Given the description of an element on the screen output the (x, y) to click on. 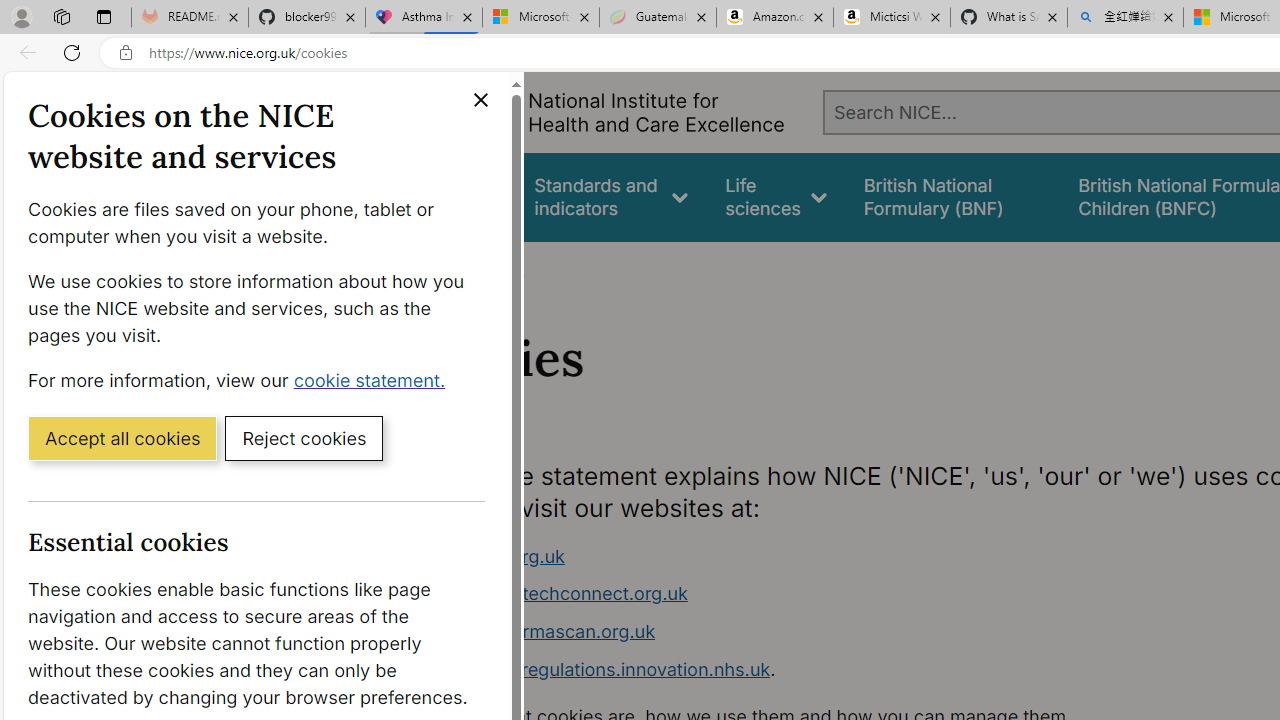
www.ukpharmascan.org.uk (538, 631)
www.healthtechconnect.org.uk (554, 593)
Accept all cookies (122, 437)
www.healthtechconnect.org.uk (796, 594)
cookie statement. (Opens in a new window) (373, 379)
Life sciences (776, 196)
